Given the description of an element on the screen output the (x, y) to click on. 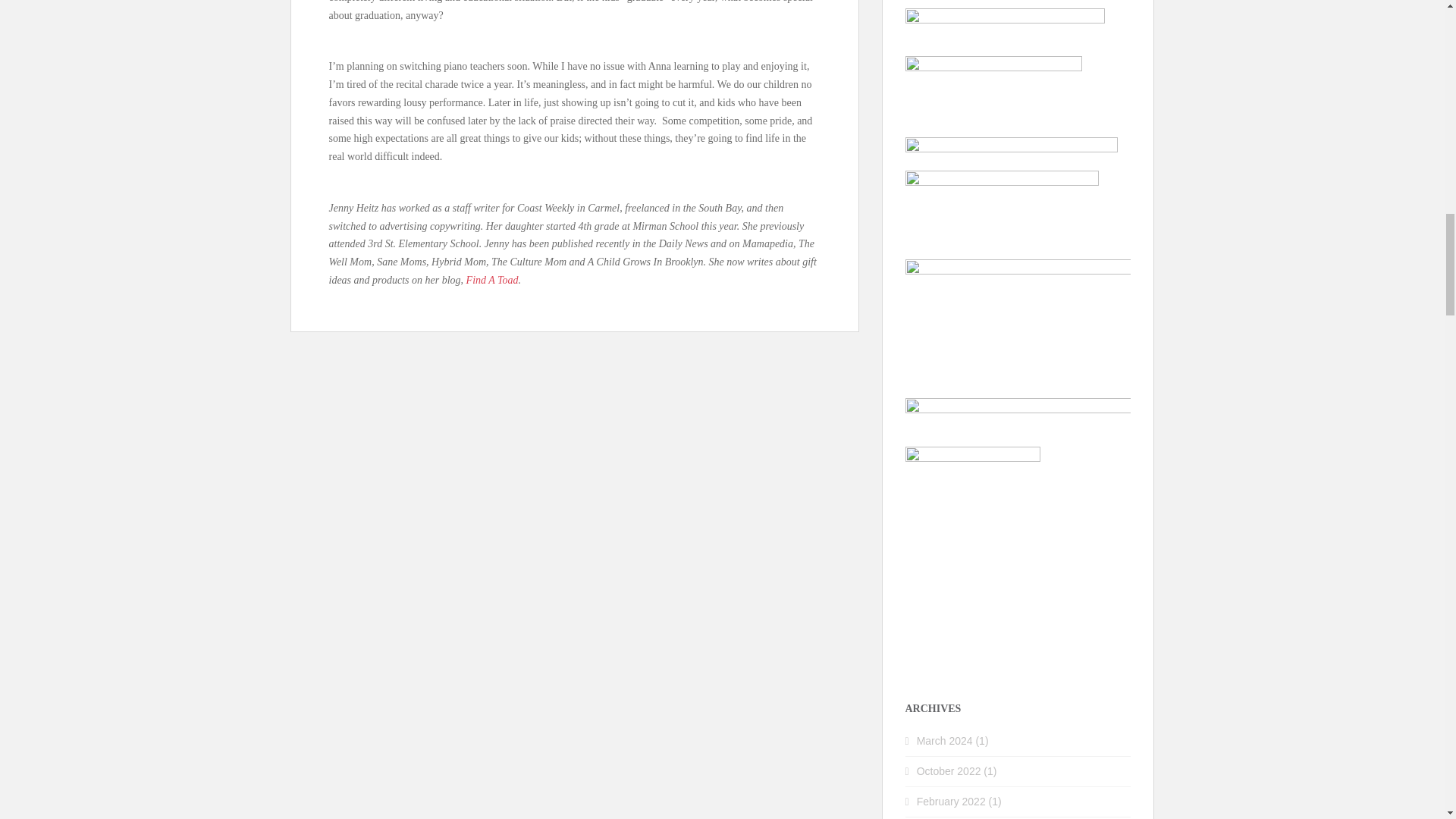
Find A Toad (491, 279)
